Given the description of an element on the screen output the (x, y) to click on. 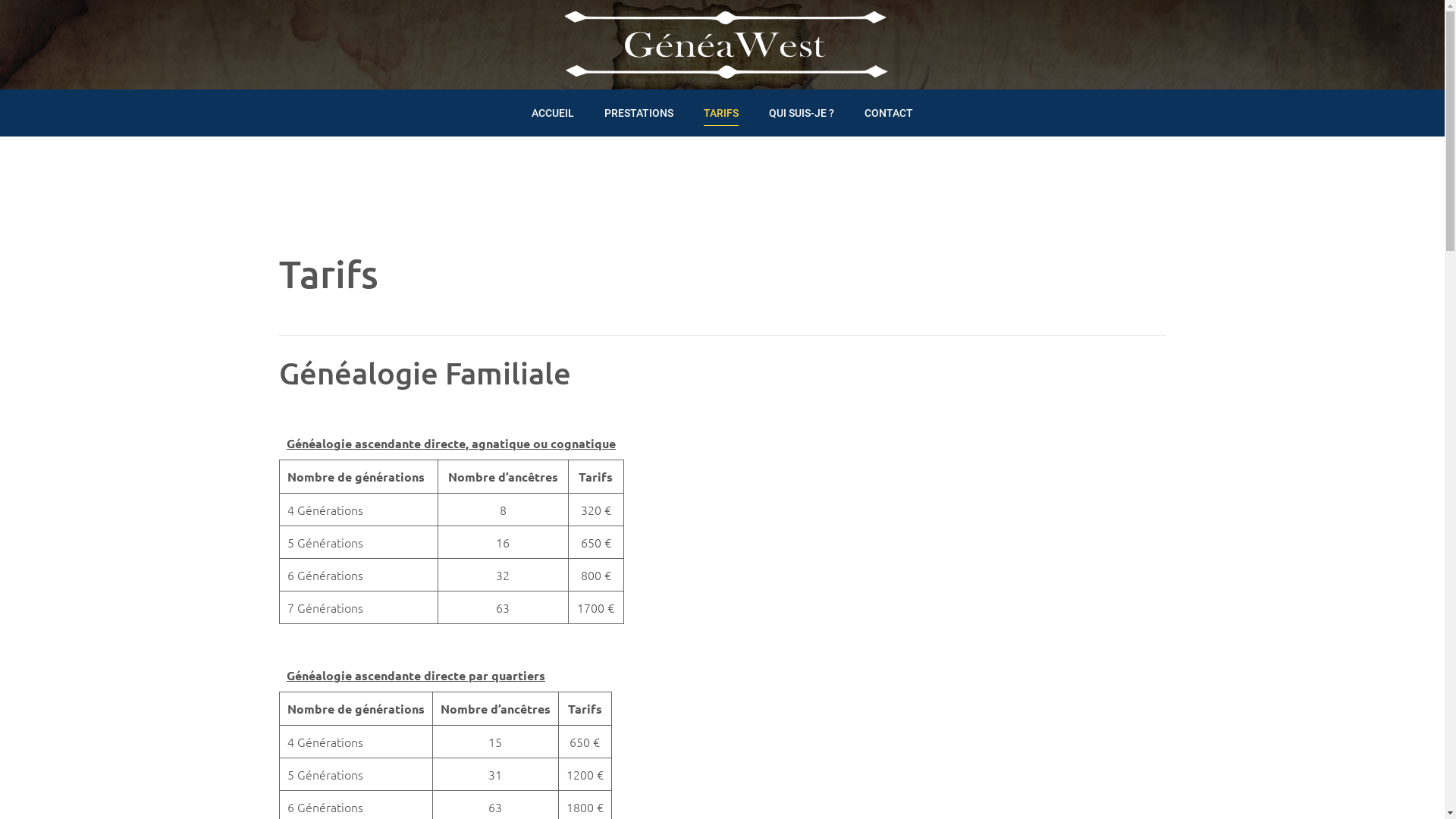
QUI SUIS-JE ? Element type: text (801, 109)
TARIFS Element type: text (720, 109)
ACCUEIL Element type: text (552, 109)
CONTACT Element type: text (888, 109)
